Given the description of an element on the screen output the (x, y) to click on. 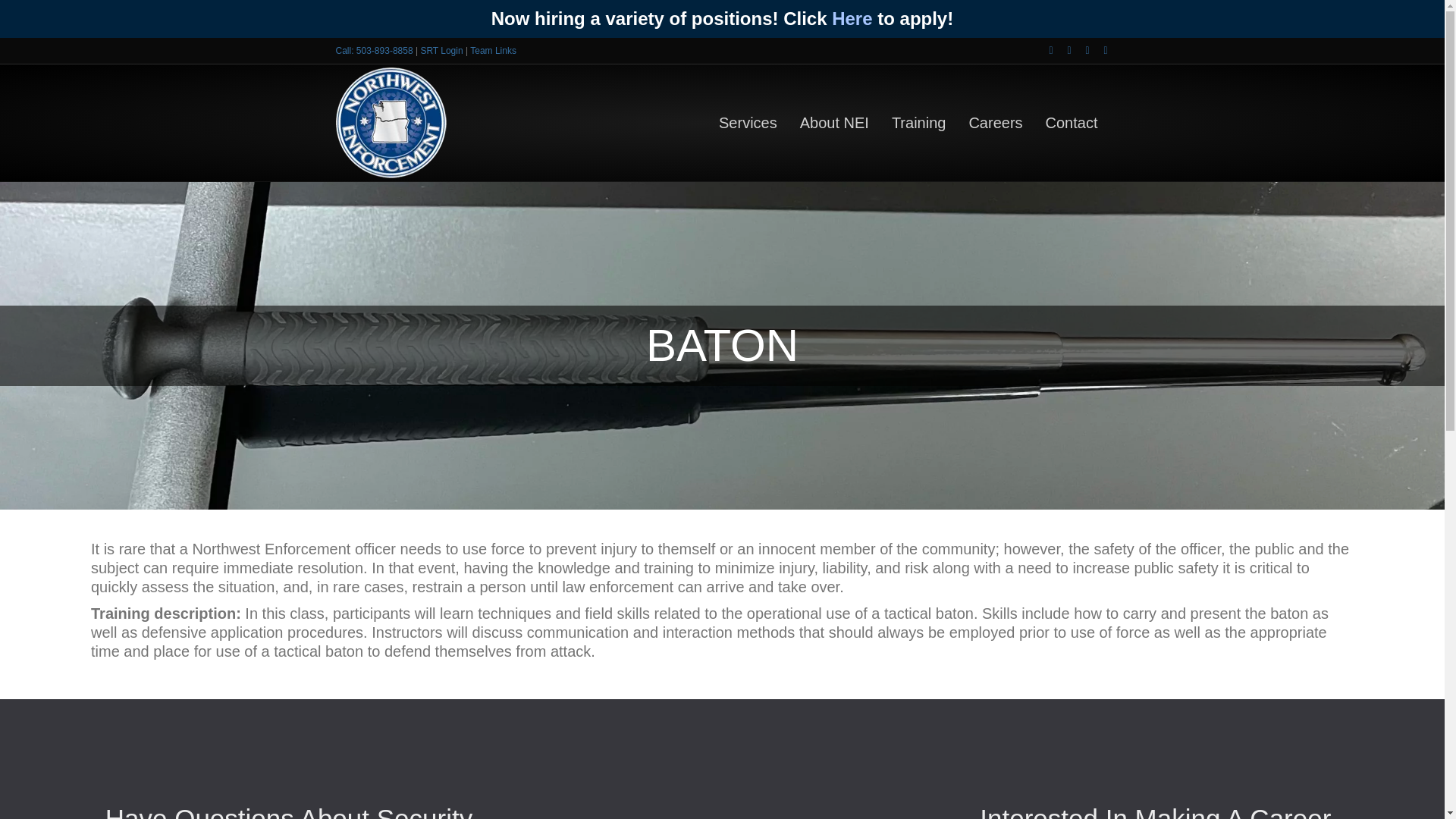
Here (851, 18)
Linkedin (1061, 50)
SRT Login (441, 50)
Youtube (1079, 50)
YouTube video player (722, 809)
Team Links (493, 50)
Instagram (1097, 50)
Facebook (1042, 50)
About NEI (834, 122)
Call: 503-893-8858 (373, 50)
